Given the description of an element on the screen output the (x, y) to click on. 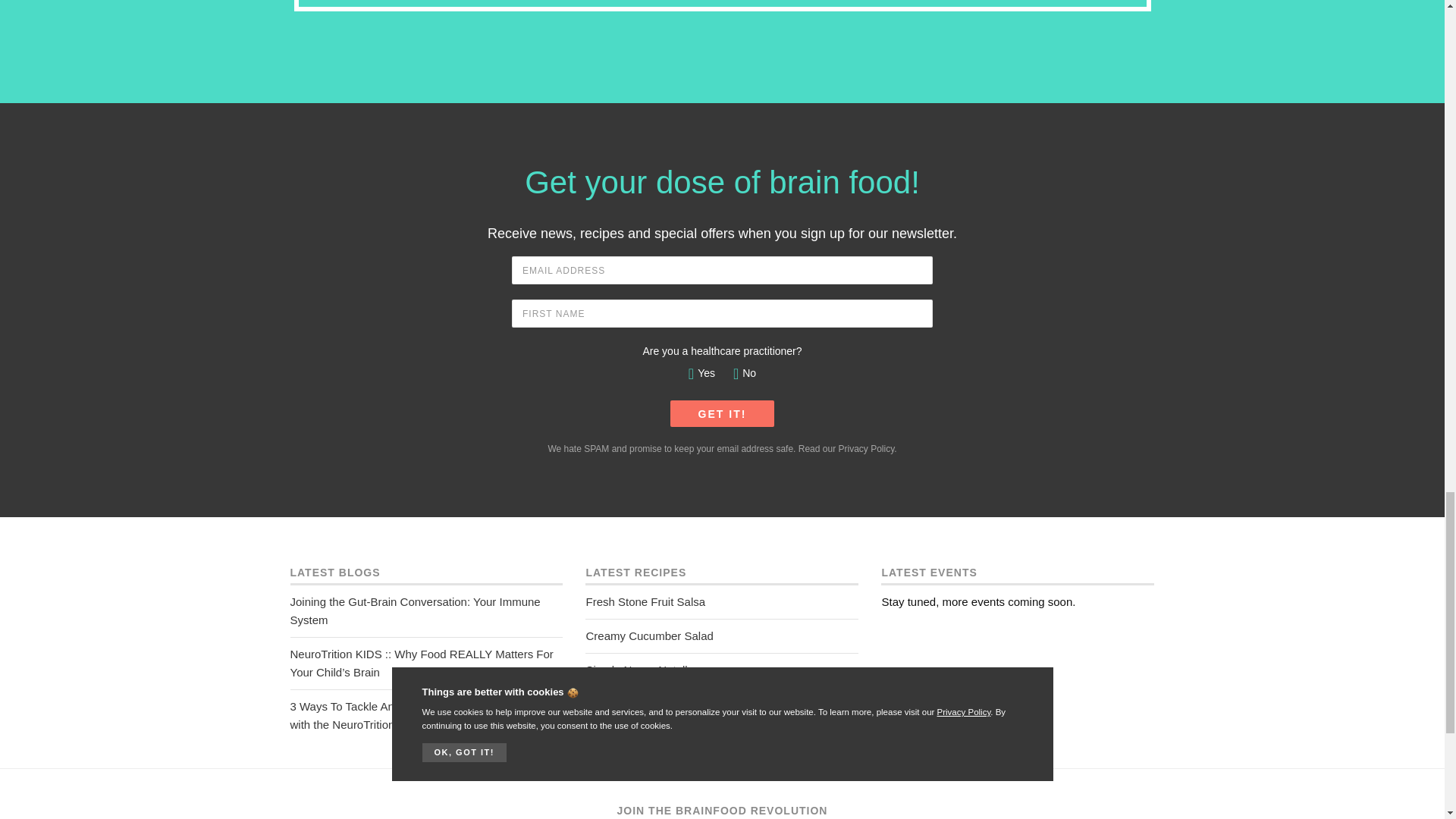
Get It! (721, 413)
Creamy Cucumber Salad (722, 635)
Joining the Gut-Brain Conversation: Your Immune System (425, 611)
Privacy Policy (865, 448)
Fresh Stone Fruit Salsa (722, 602)
Simple Neuro-Nutella (722, 670)
Get It! (721, 413)
